Given the description of an element on the screen output the (x, y) to click on. 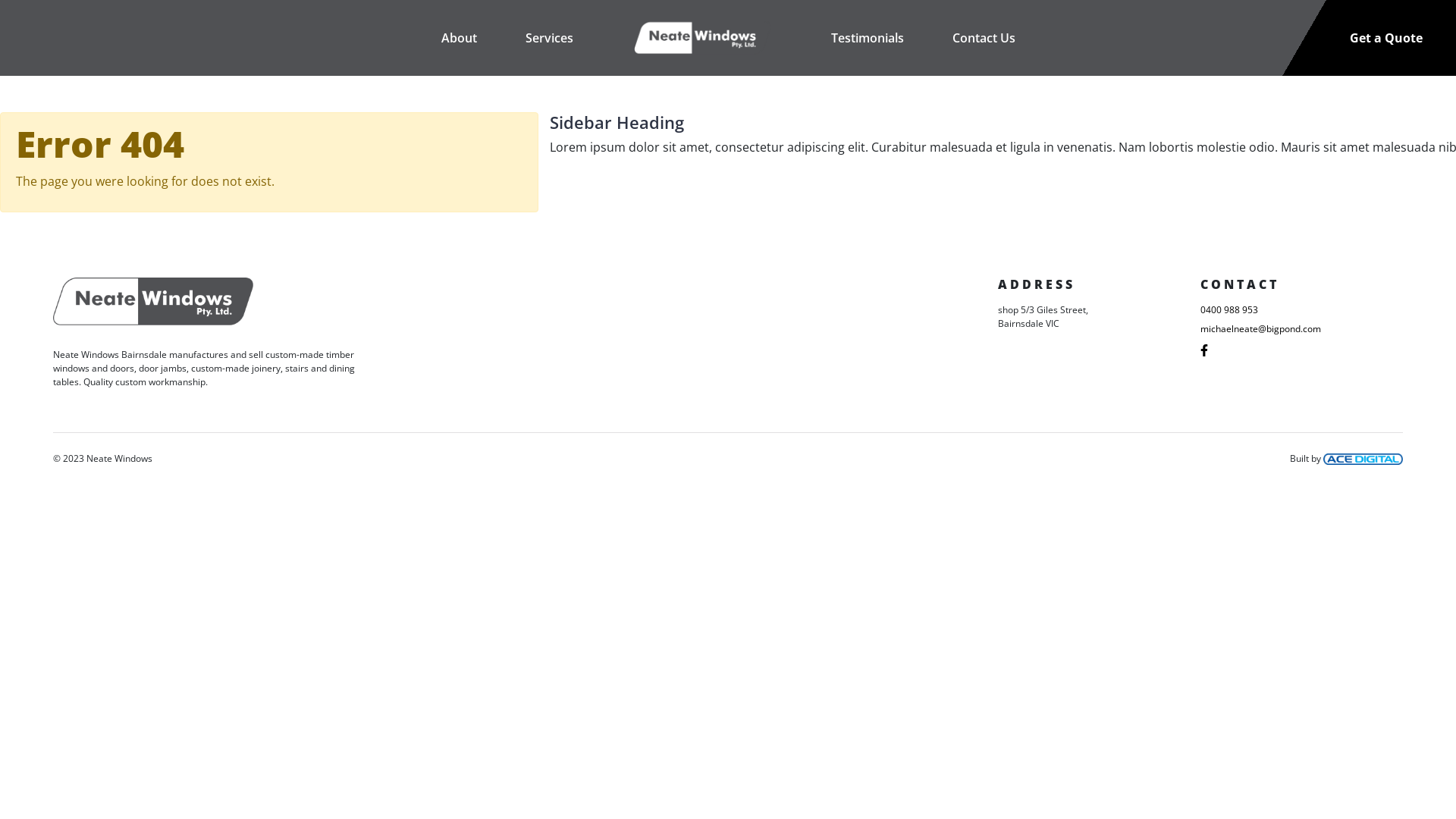
Testimonials Element type: text (867, 37)
michaelneate@bigpond.com Element type: text (1301, 328)
Contact Us Element type: text (983, 37)
Services Element type: text (548, 37)
About Element type: text (458, 37)
0400 988 953 Element type: text (1301, 309)
